Given the description of an element on the screen output the (x, y) to click on. 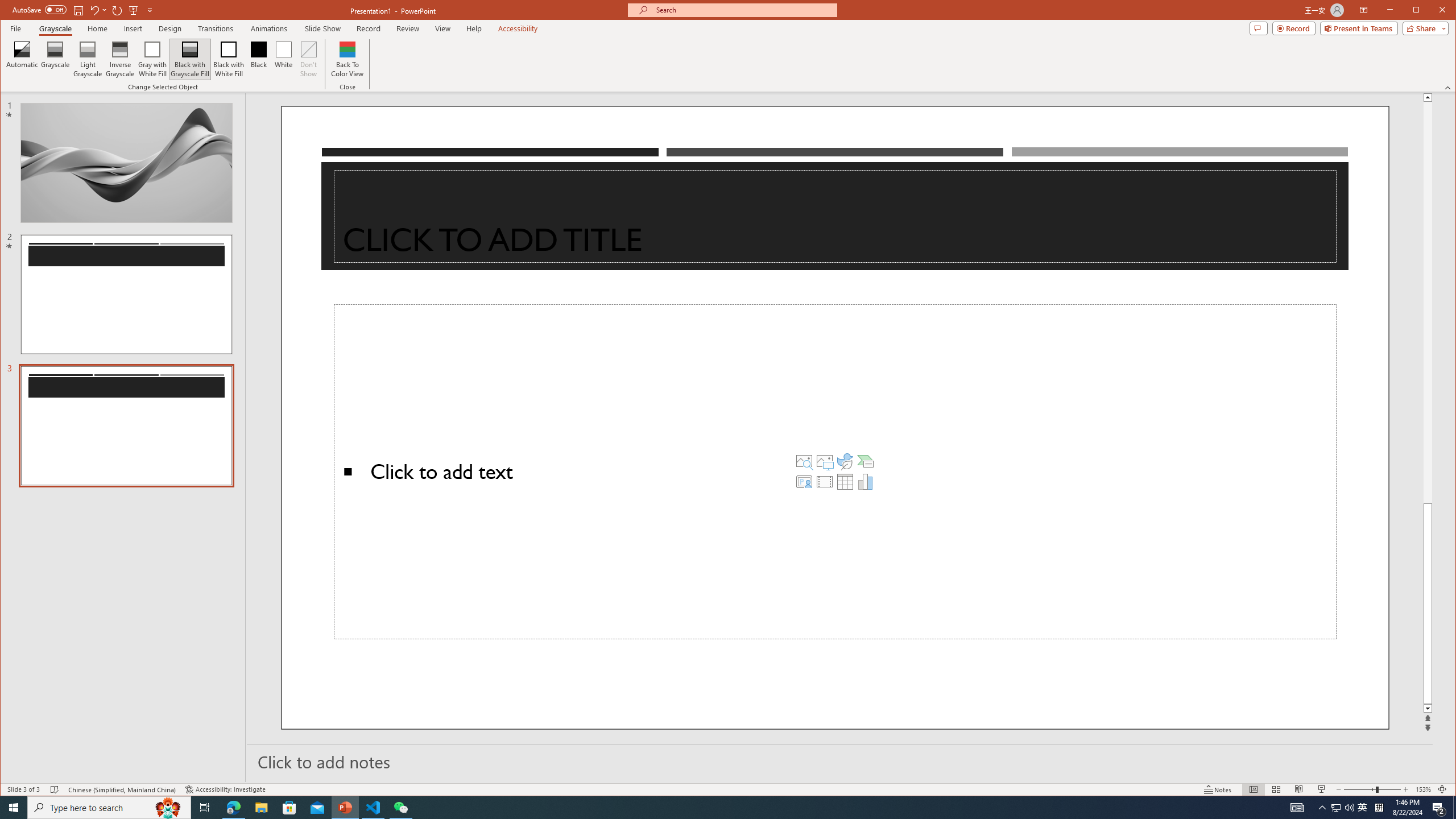
Accessibility Checker Accessibility: Investigate (225, 789)
Design (170, 28)
Microsoft Store (289, 807)
Action Center, 2 new notifications (1439, 807)
Insert Table (844, 481)
Q2790: 100% (1349, 807)
Insert Video (824, 481)
Line up (1427, 96)
User Promoted Notification Area (1342, 807)
Black with White Fill (229, 59)
Slide Notes (839, 761)
